Given the description of an element on the screen output the (x, y) to click on. 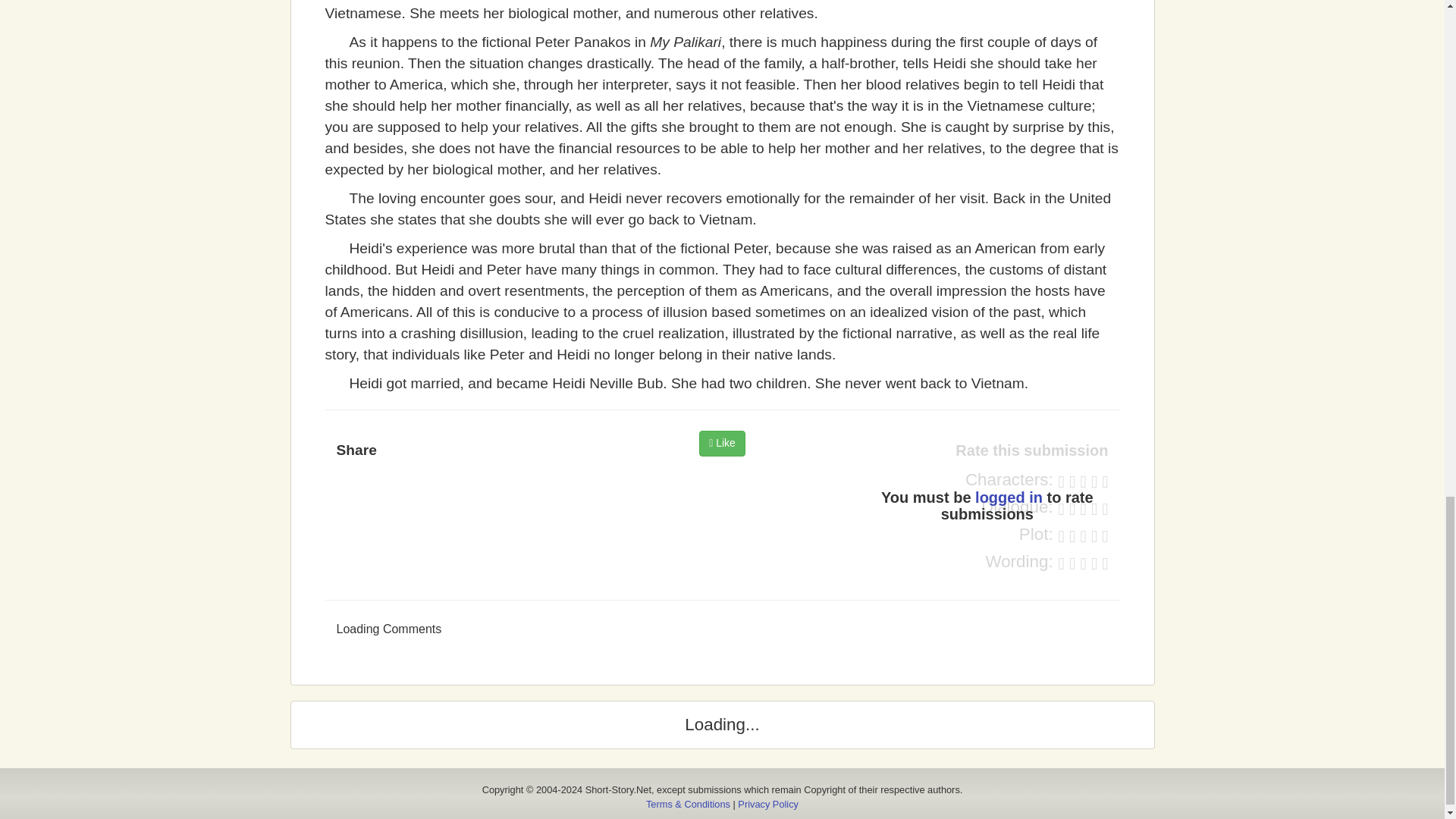
logged in (1008, 497)
Rate this submission (987, 450)
Privacy Policy (767, 803)
Like (721, 443)
